Given the description of an element on the screen output the (x, y) to click on. 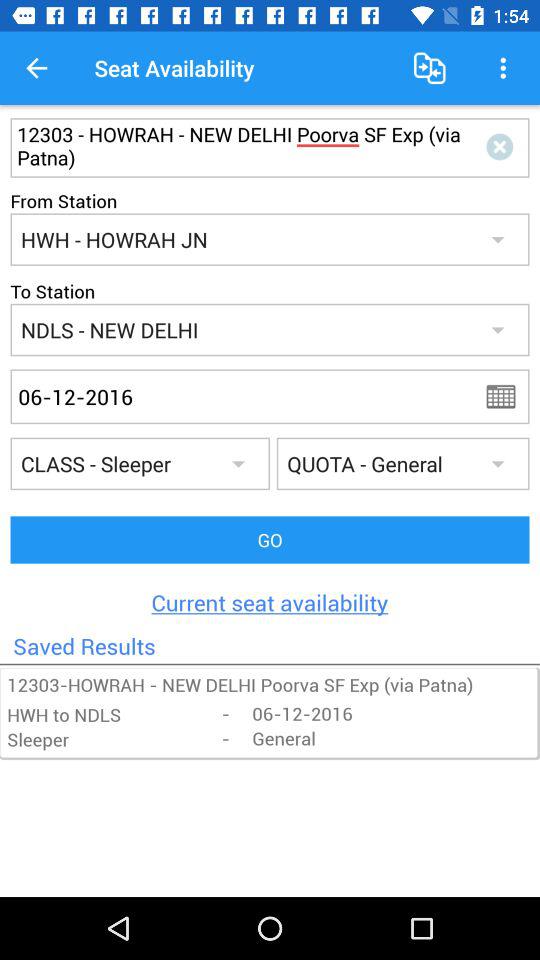
calander (507, 396)
